Given the description of an element on the screen output the (x, y) to click on. 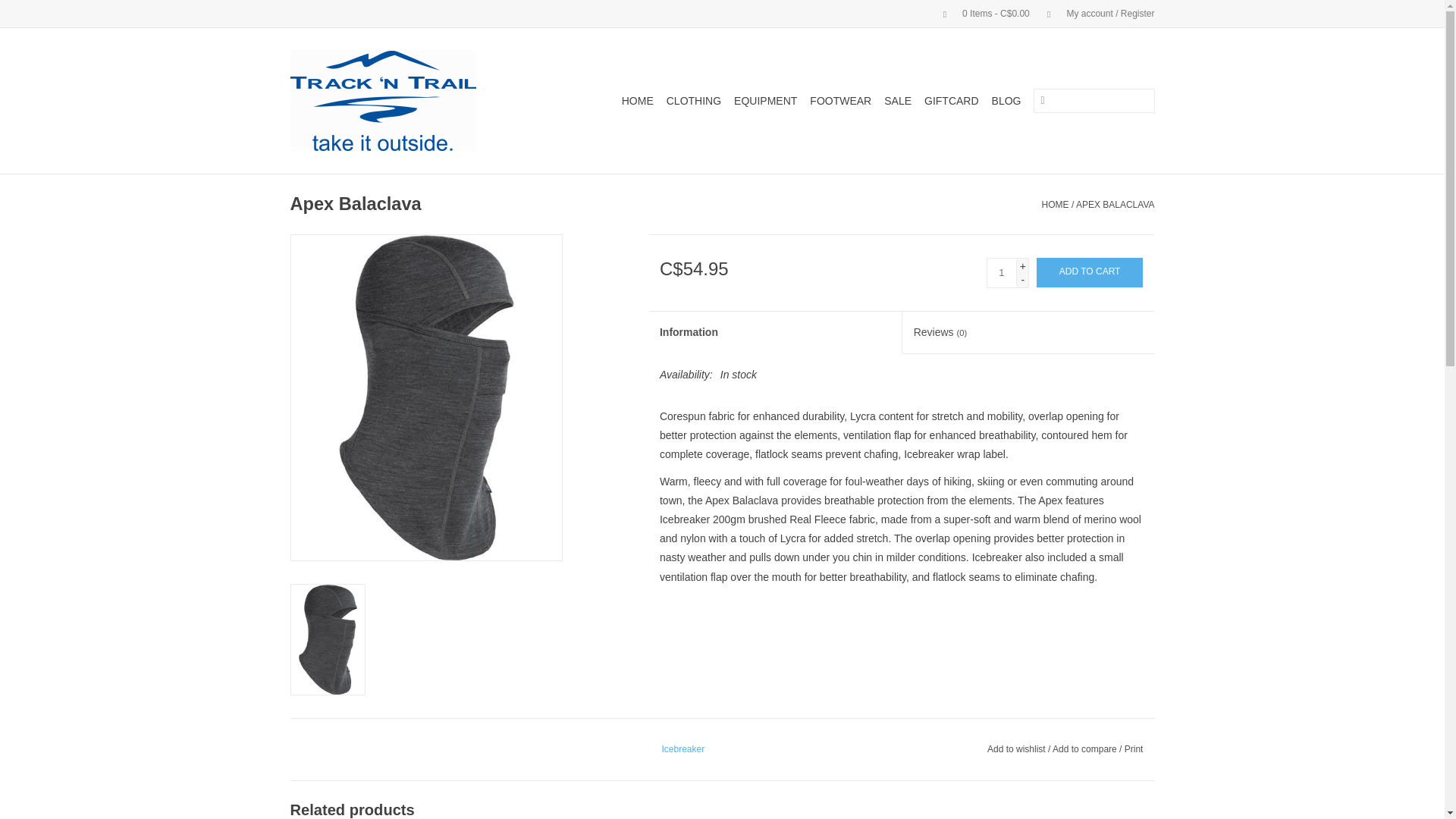
My account (1093, 13)
Cart (980, 13)
EQUIPMENT (765, 100)
Clothing (693, 100)
HOME (637, 100)
CLOTHING (693, 100)
Track 'N Trail (400, 100)
1 (1001, 272)
